Given the description of an element on the screen output the (x, y) to click on. 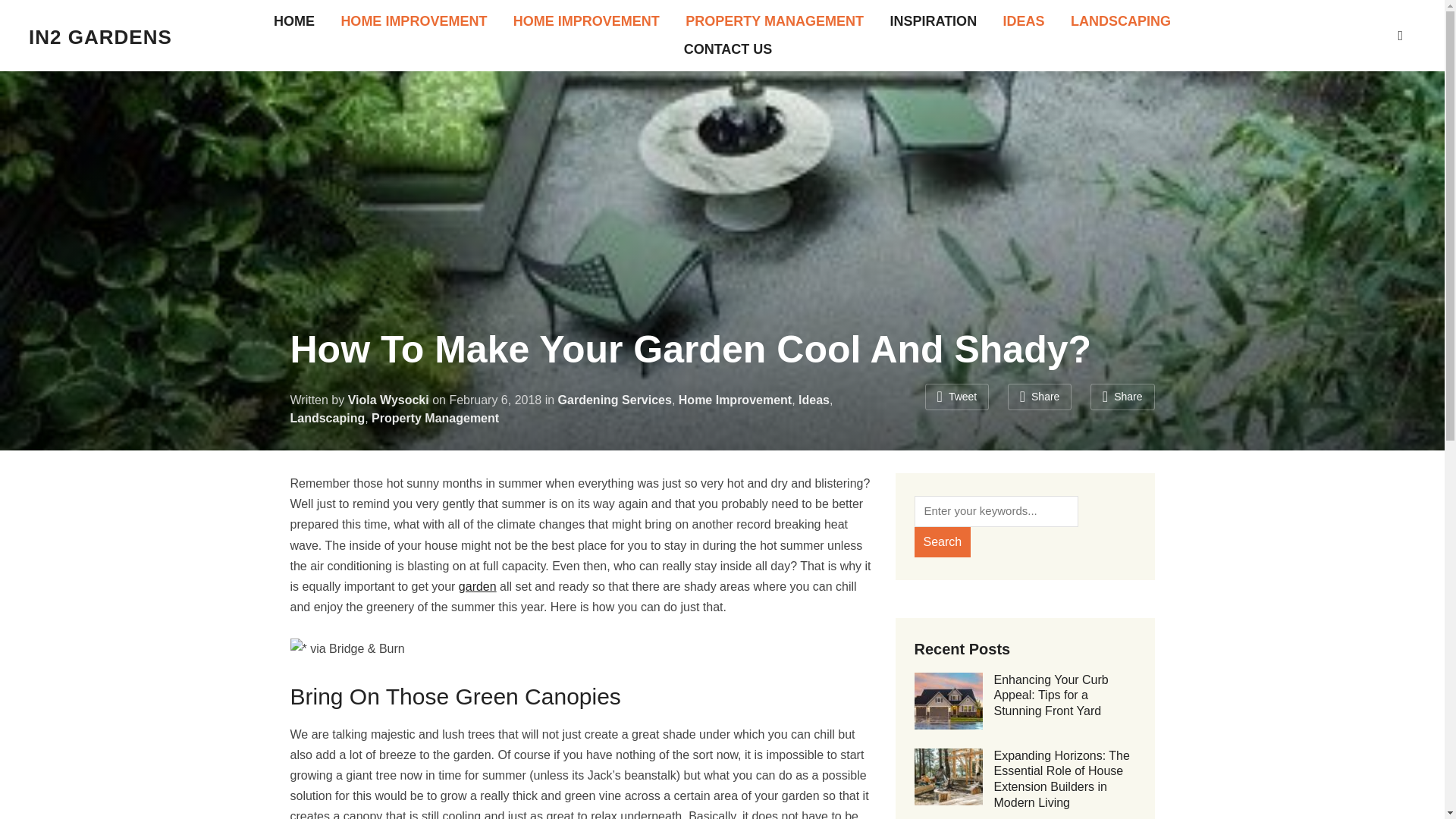
Share this on Facebook (1039, 397)
Home Improvement (735, 399)
HOME IMPROVEMENT (413, 21)
garden (477, 585)
Search (942, 541)
Search (942, 541)
Tweet this on Twitter (957, 397)
From Concept Through Completion (100, 36)
INSPIRATION (932, 21)
Tweet (957, 397)
